Given the description of an element on the screen output the (x, y) to click on. 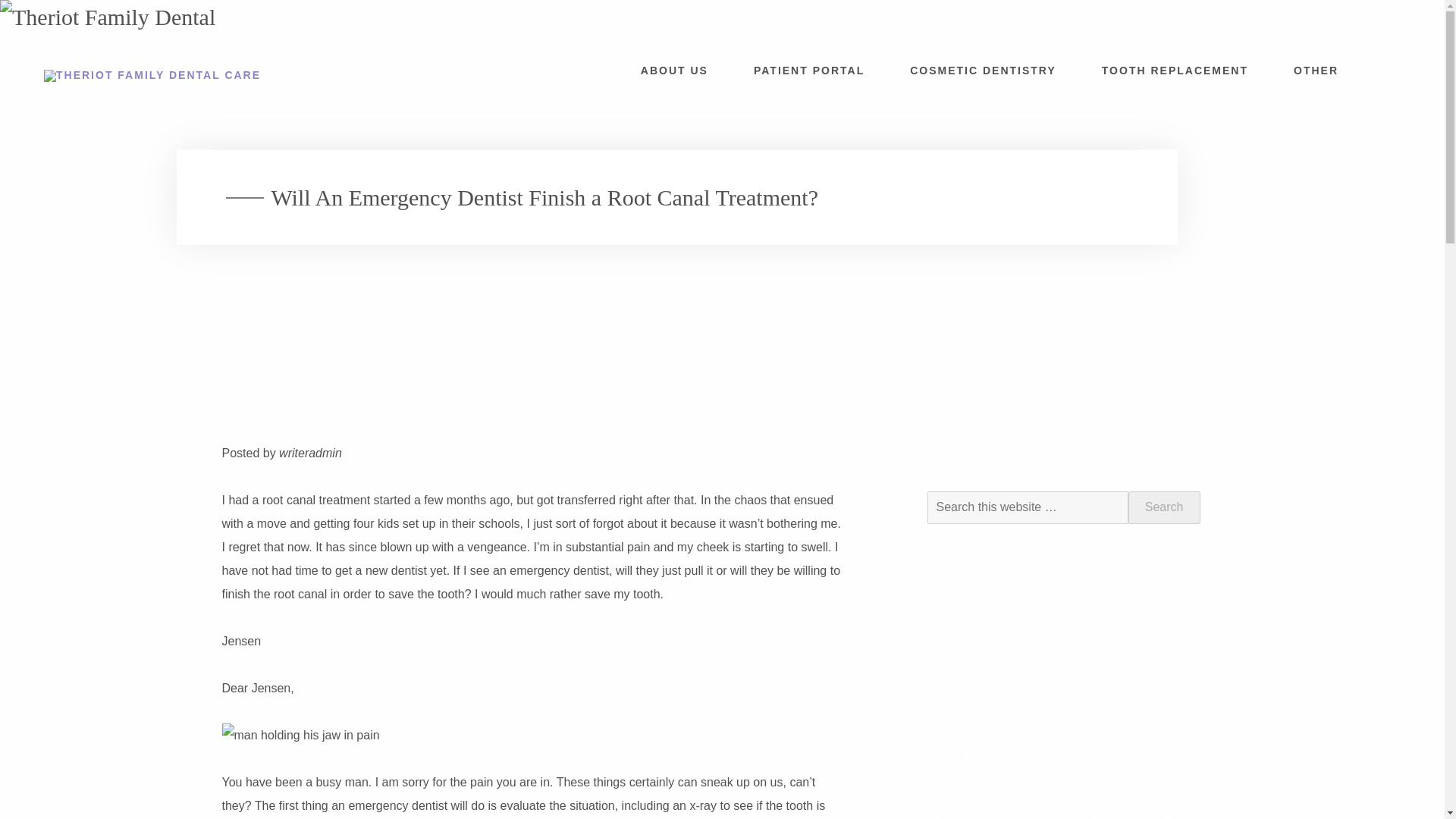
PATIENT PORTAL (808, 70)
COSMETIC DENTISTRY (983, 70)
Search (1163, 507)
Search (1163, 507)
ABOUT US (674, 70)
TOOTH REPLACEMENT (1174, 70)
